Given the description of an element on the screen output the (x, y) to click on. 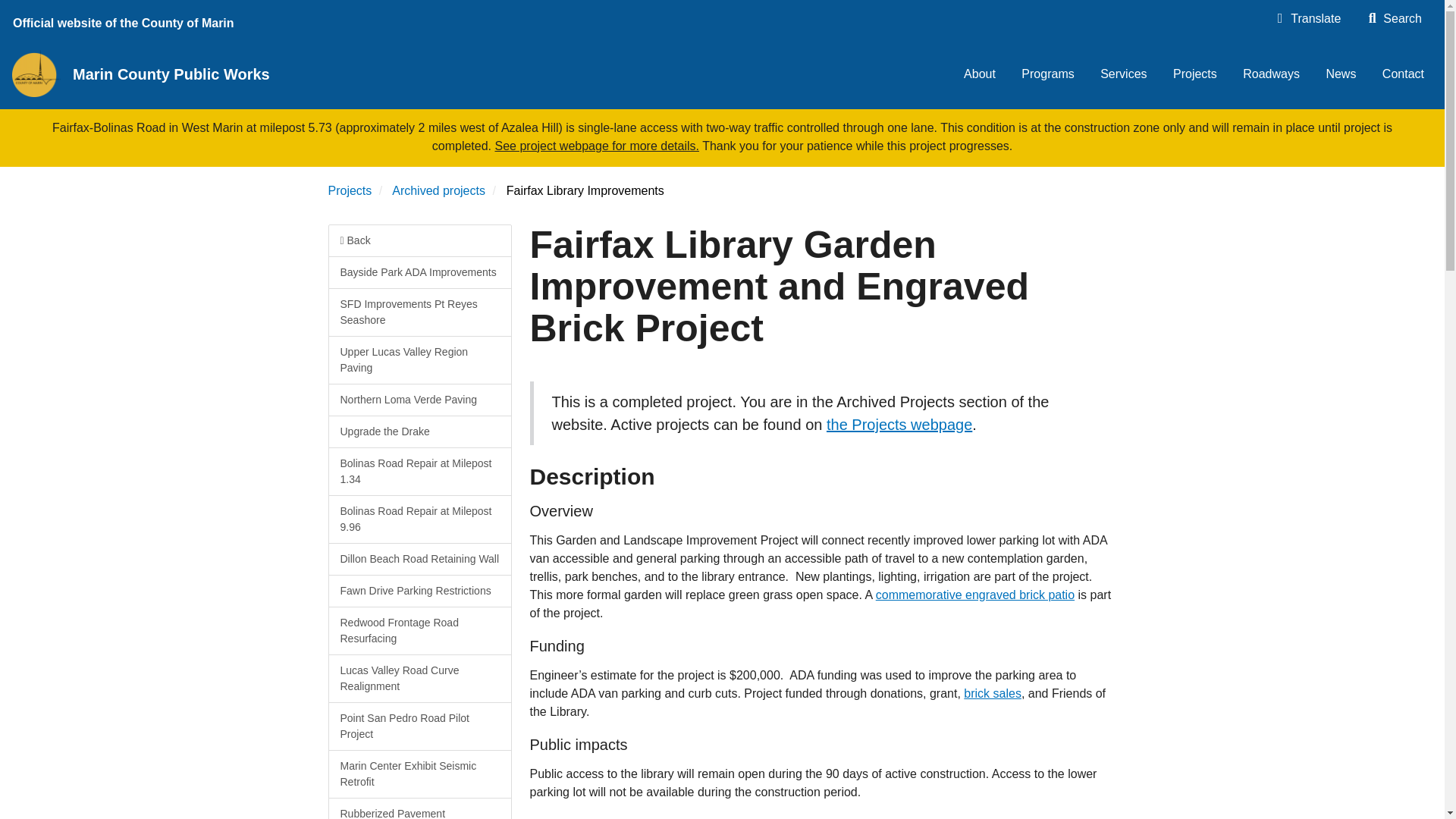
Search (1394, 18)
Visit Marin County Homepage (126, 19)
Marin County Public Works (176, 74)
Programs (1047, 74)
Roadways (1271, 74)
Home (36, 73)
About (979, 74)
Archived projects (437, 190)
Projects (349, 190)
News (1340, 74)
